Given the description of an element on the screen output the (x, y) to click on. 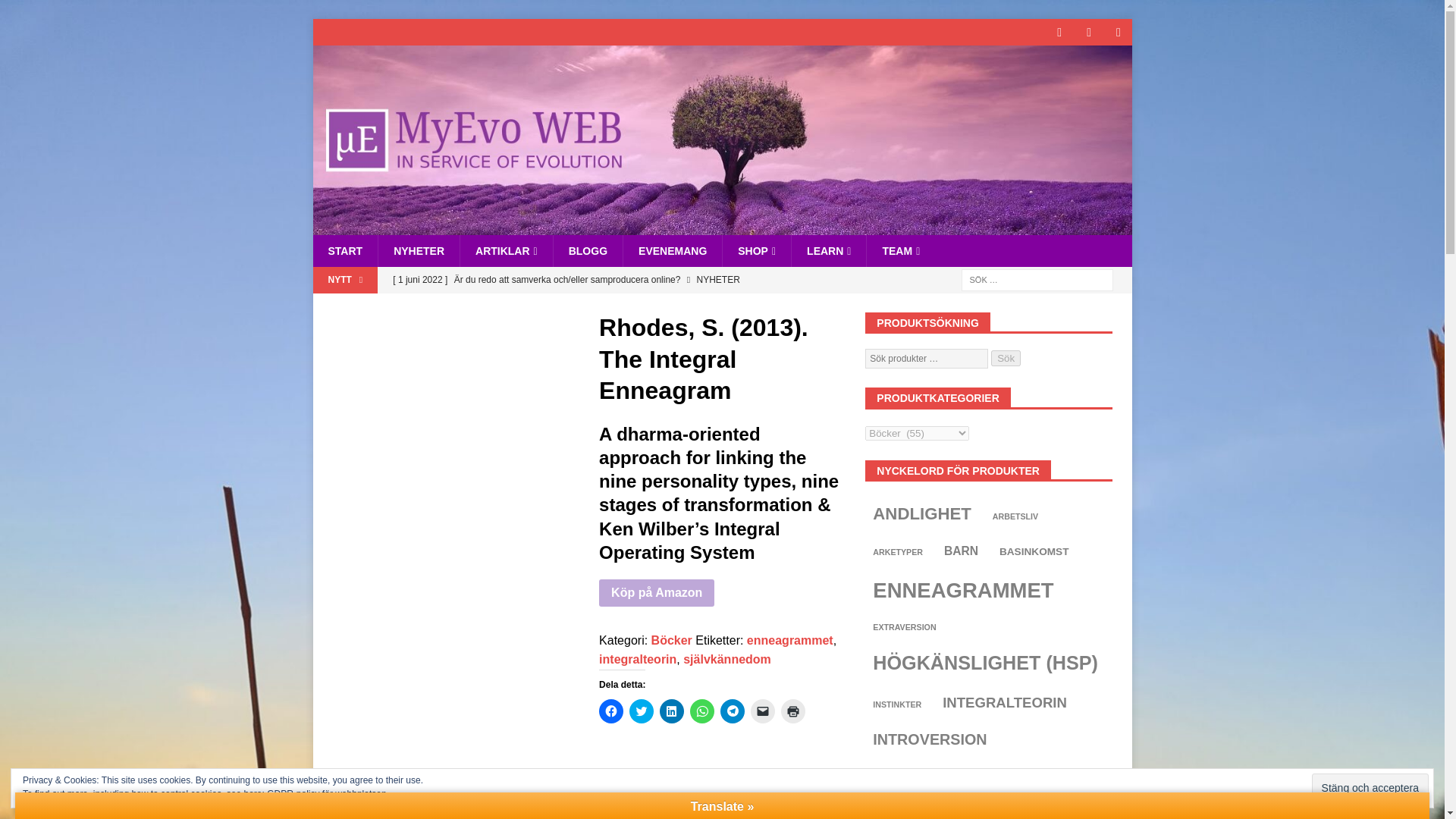
NYHETER (418, 250)
ARTIKLAR (506, 250)
LEARN (828, 250)
START (345, 250)
MyEvo WEB (722, 225)
BLOGG (588, 250)
TEAM (900, 250)
EVENEMANG (672, 250)
SHOP (756, 250)
